Given the description of an element on the screen output the (x, y) to click on. 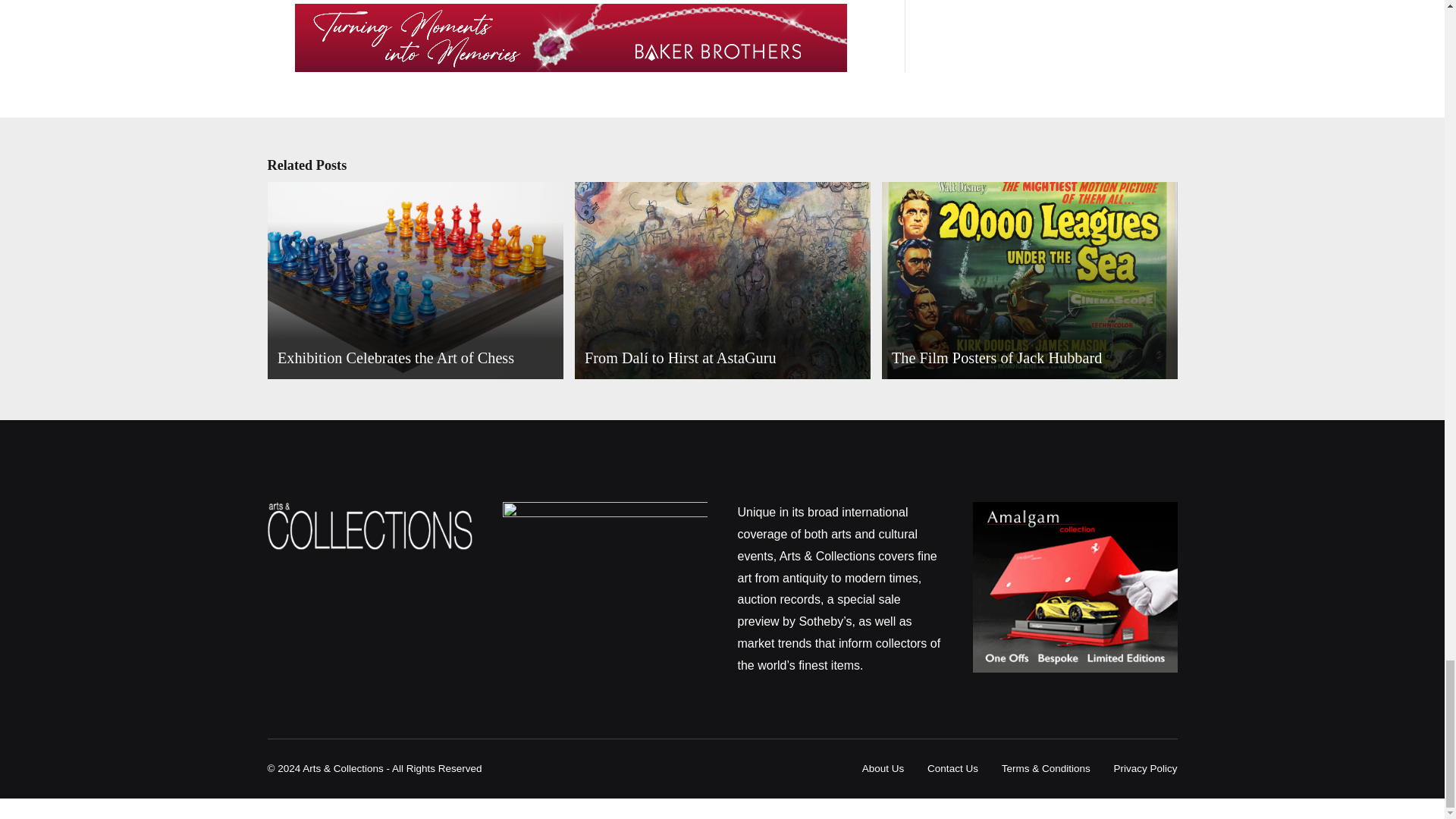
Exhibition Celebrates the Art of Chess (395, 357)
The Film Posters of Jack Hubbard (1026, 282)
Exhibition Celebrates the Art of Chess (412, 280)
Exhibition Celebrates the Art of Chess (412, 282)
The Film Posters of Jack Hubbard (1026, 280)
